Given the description of an element on the screen output the (x, y) to click on. 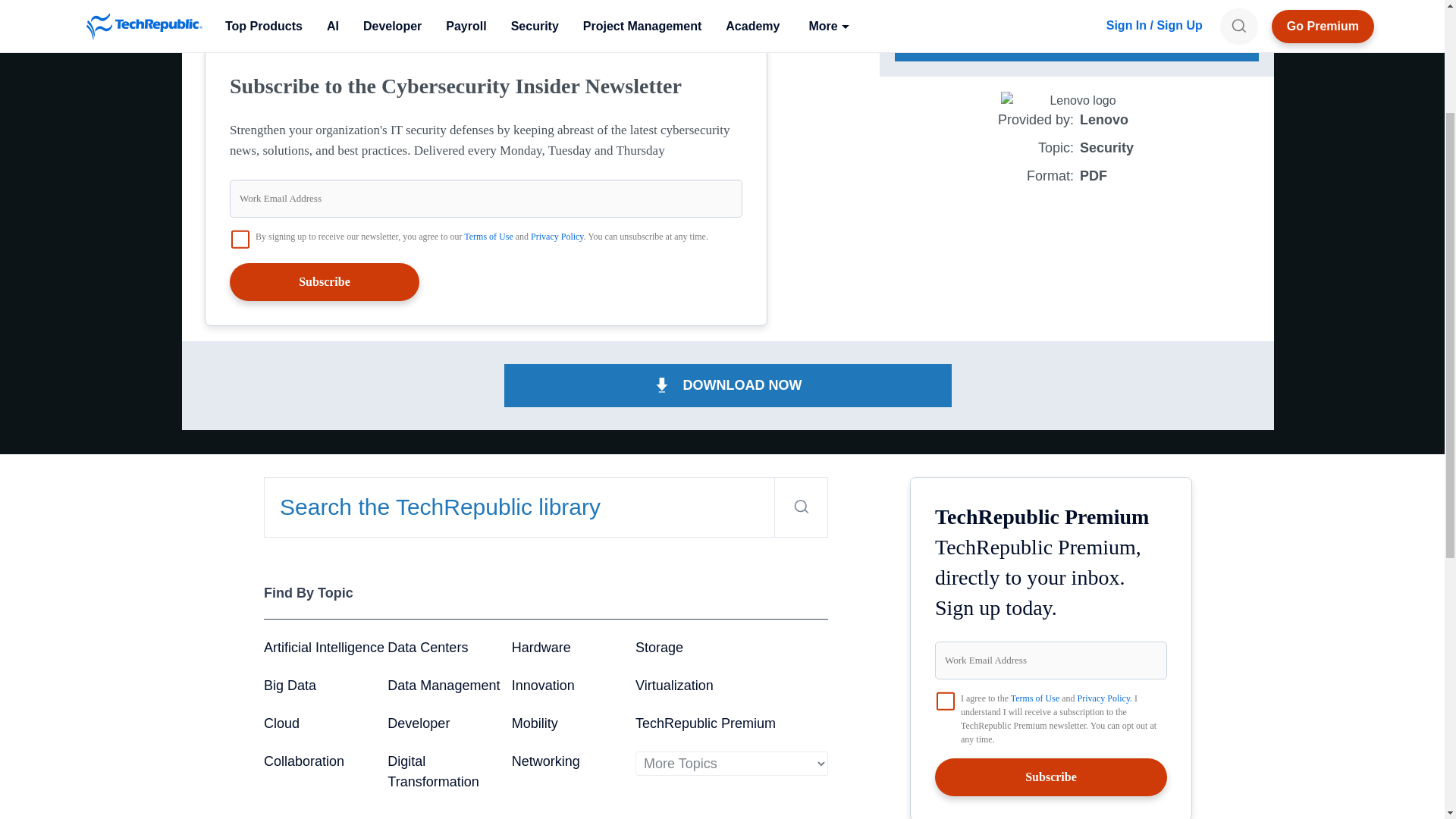
on (945, 701)
Privacy Policy (557, 235)
Terms of Use (488, 235)
Artificial Intelligence (323, 647)
Subscribe (324, 281)
DOWNLOAD NOW (727, 385)
DOWNLOAD NOW (1077, 39)
on (239, 239)
